Given the description of an element on the screen output the (x, y) to click on. 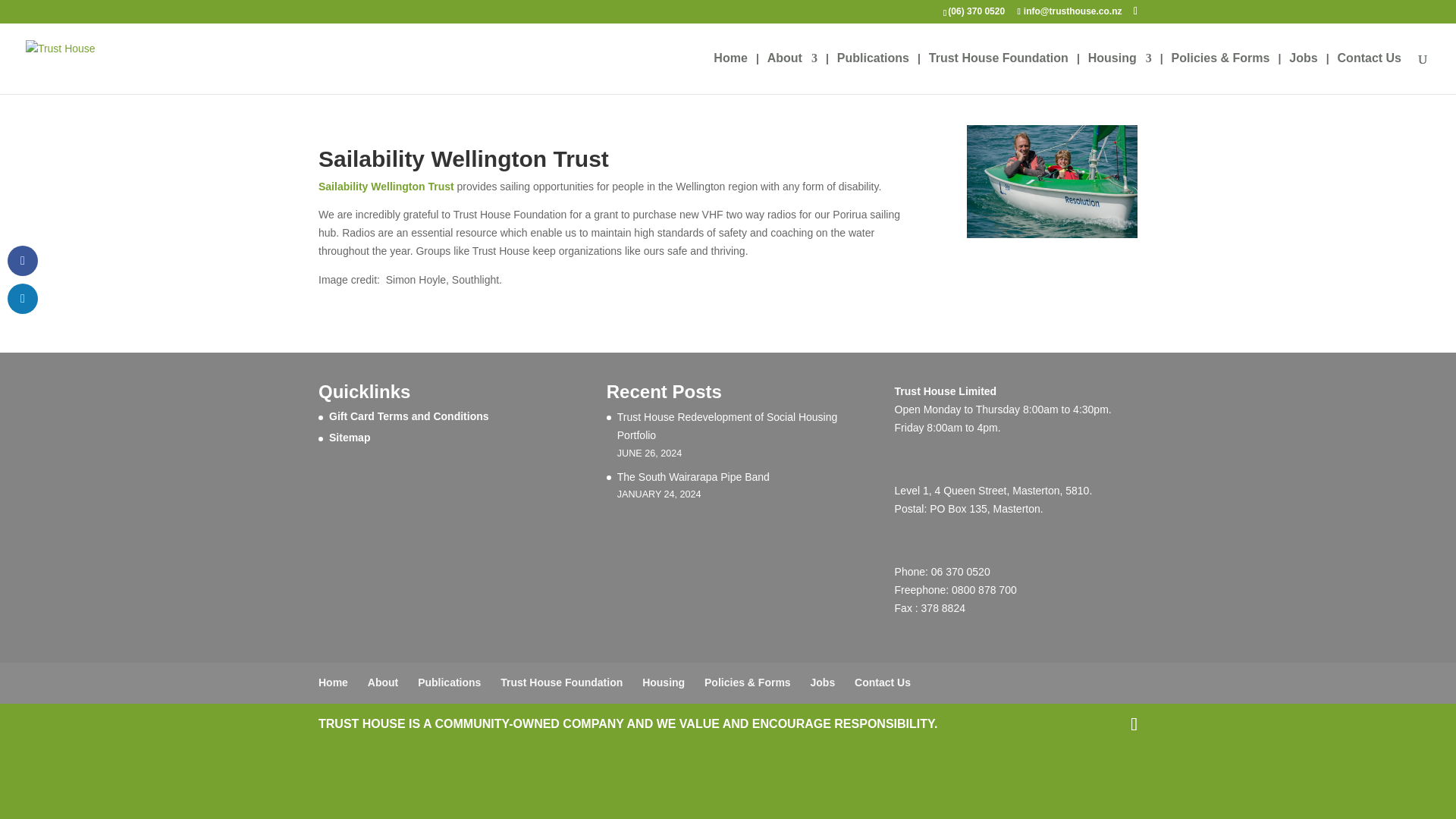
The South Wairarapa Pipe Band (693, 476)
Publications (448, 682)
Contact Us (1369, 73)
Sitemap (349, 437)
Gift Card Terms and Conditions (409, 416)
Sailability Wellington Trust (386, 186)
Trust House Foundation (561, 682)
About (382, 682)
Image for Trust House Foundation (1051, 181)
About (791, 73)
